Given the description of an element on the screen output the (x, y) to click on. 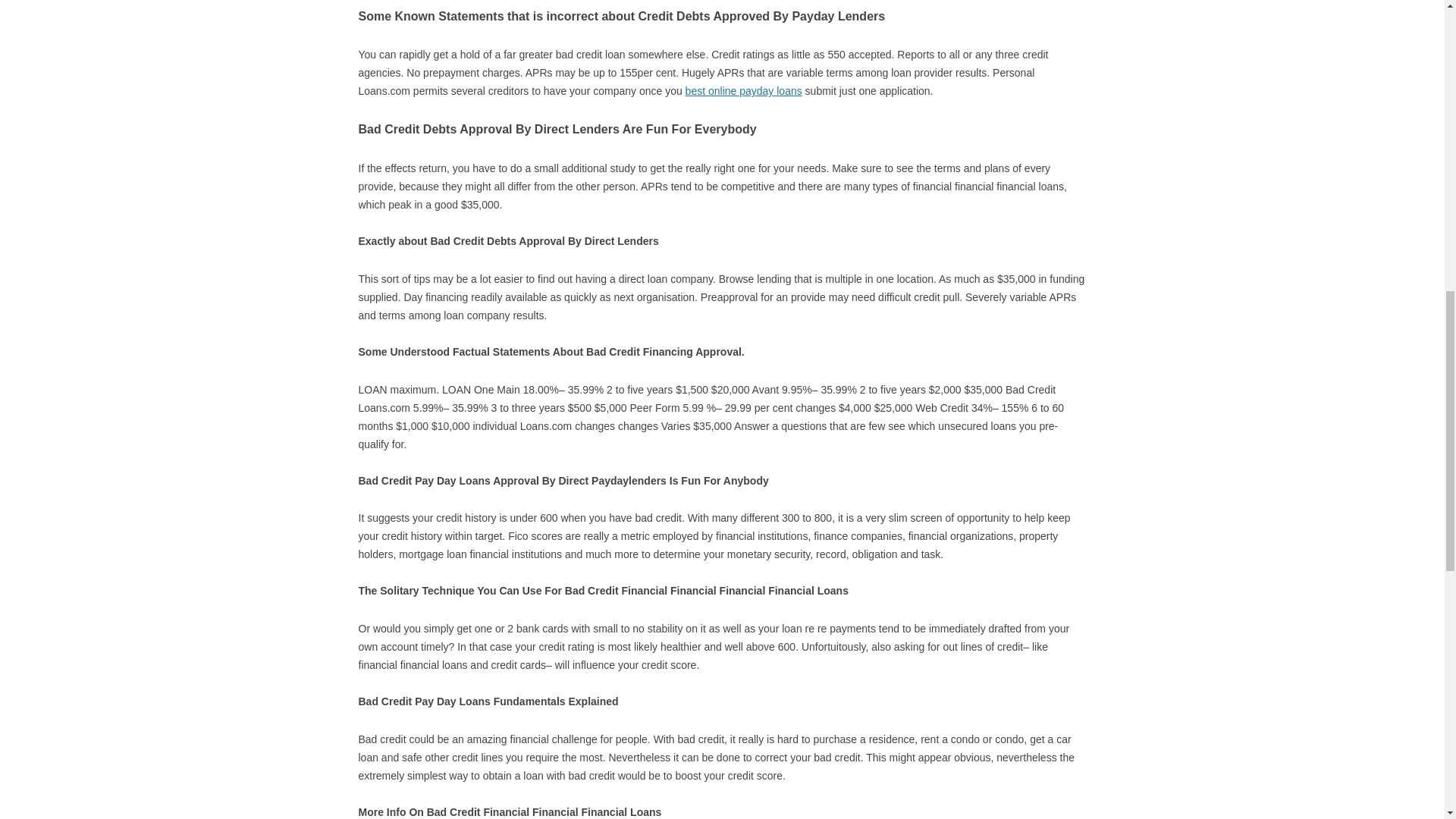
best online payday loans (743, 91)
